Given the description of an element on the screen output the (x, y) to click on. 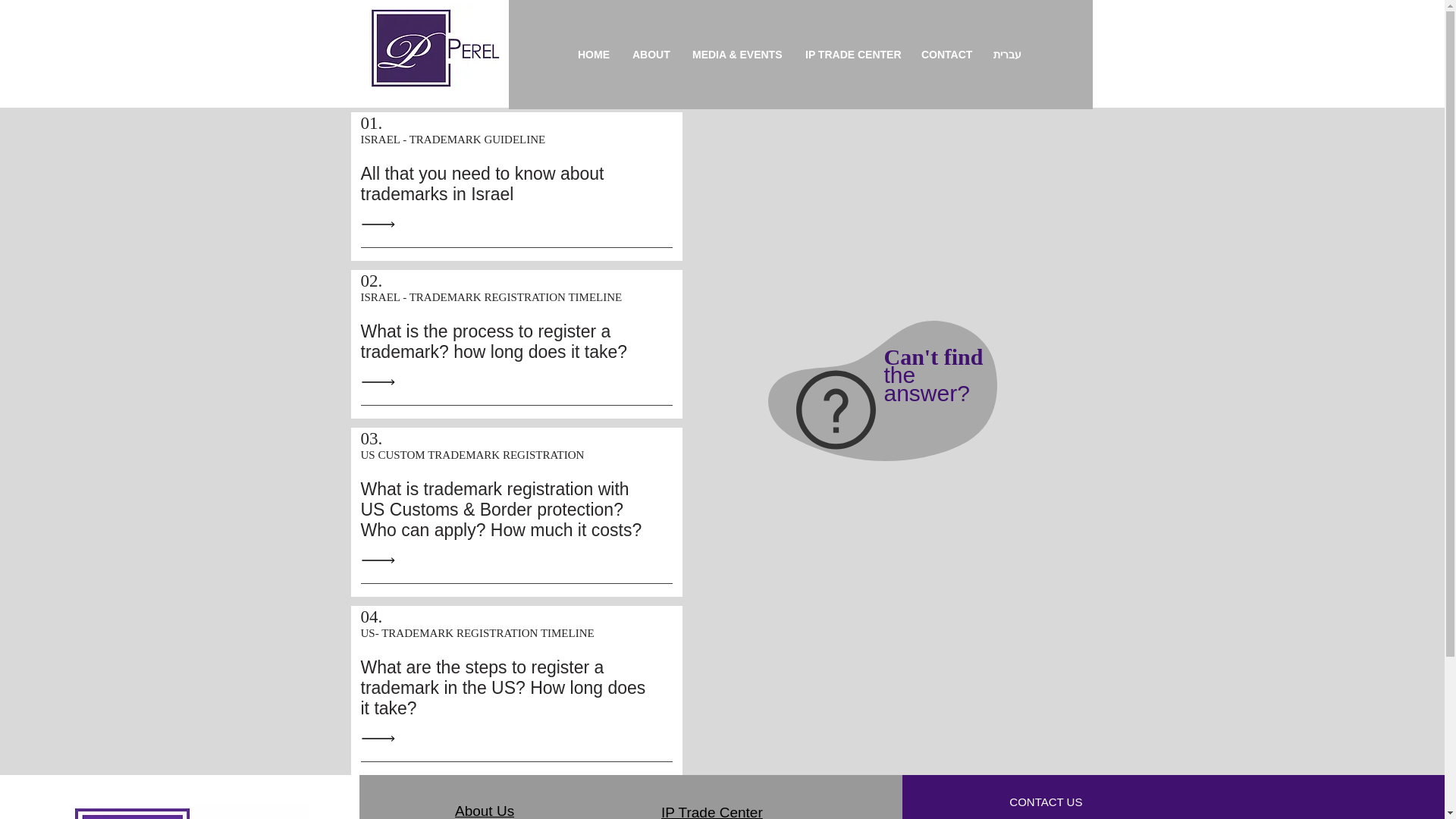
IP Trade Center (711, 811)
CONTACT (945, 54)
About Us (935, 374)
IP TRADE CENTER (483, 811)
HOME (851, 54)
